Given the description of an element on the screen output the (x, y) to click on. 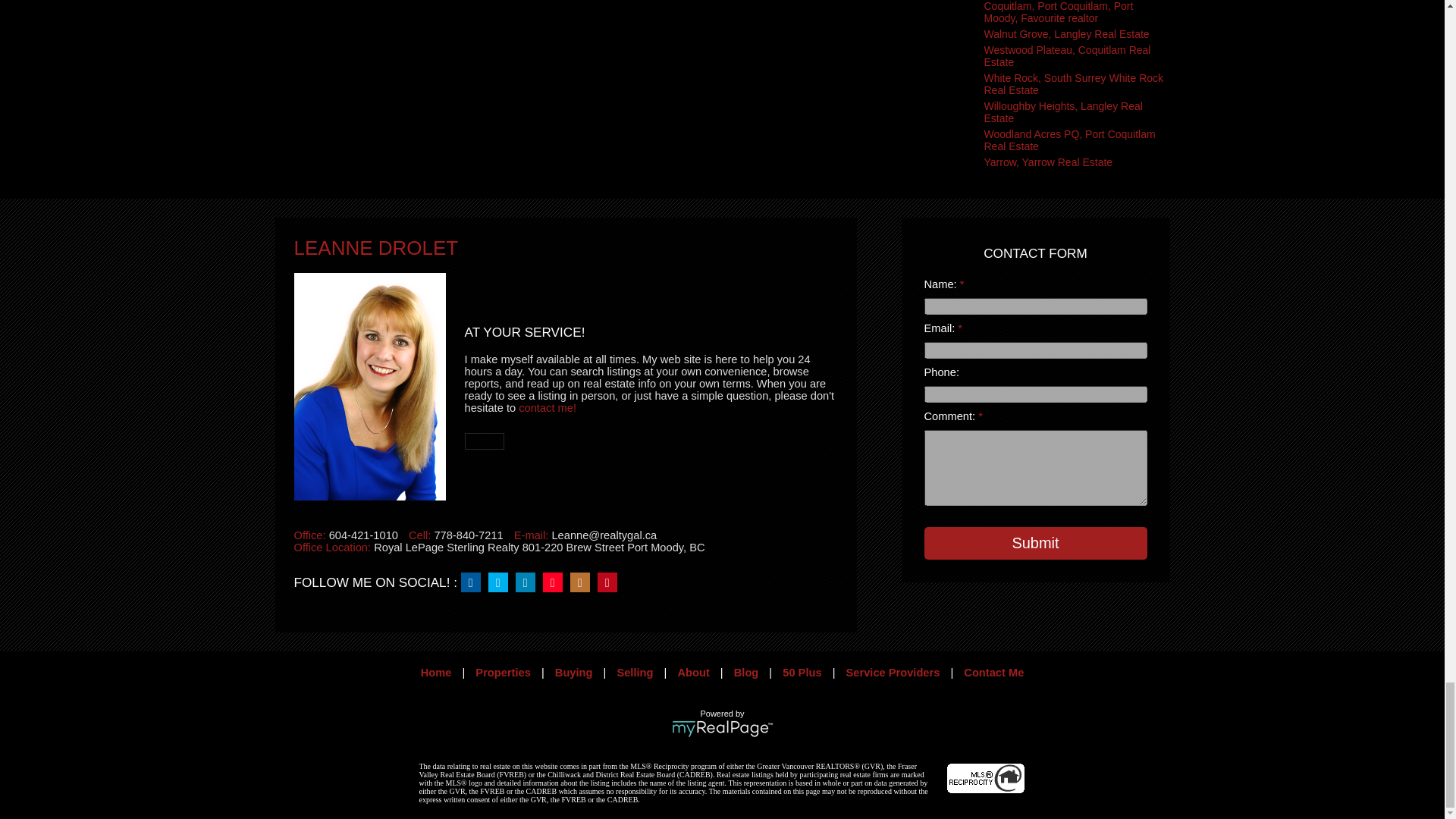
Selling (633, 672)
Service Providers (892, 672)
Blog (745, 672)
Properties (503, 672)
Buying (573, 672)
Contact Me (993, 672)
About (693, 672)
Home (435, 672)
50 Plus (802, 672)
